Given the description of an element on the screen output the (x, y) to click on. 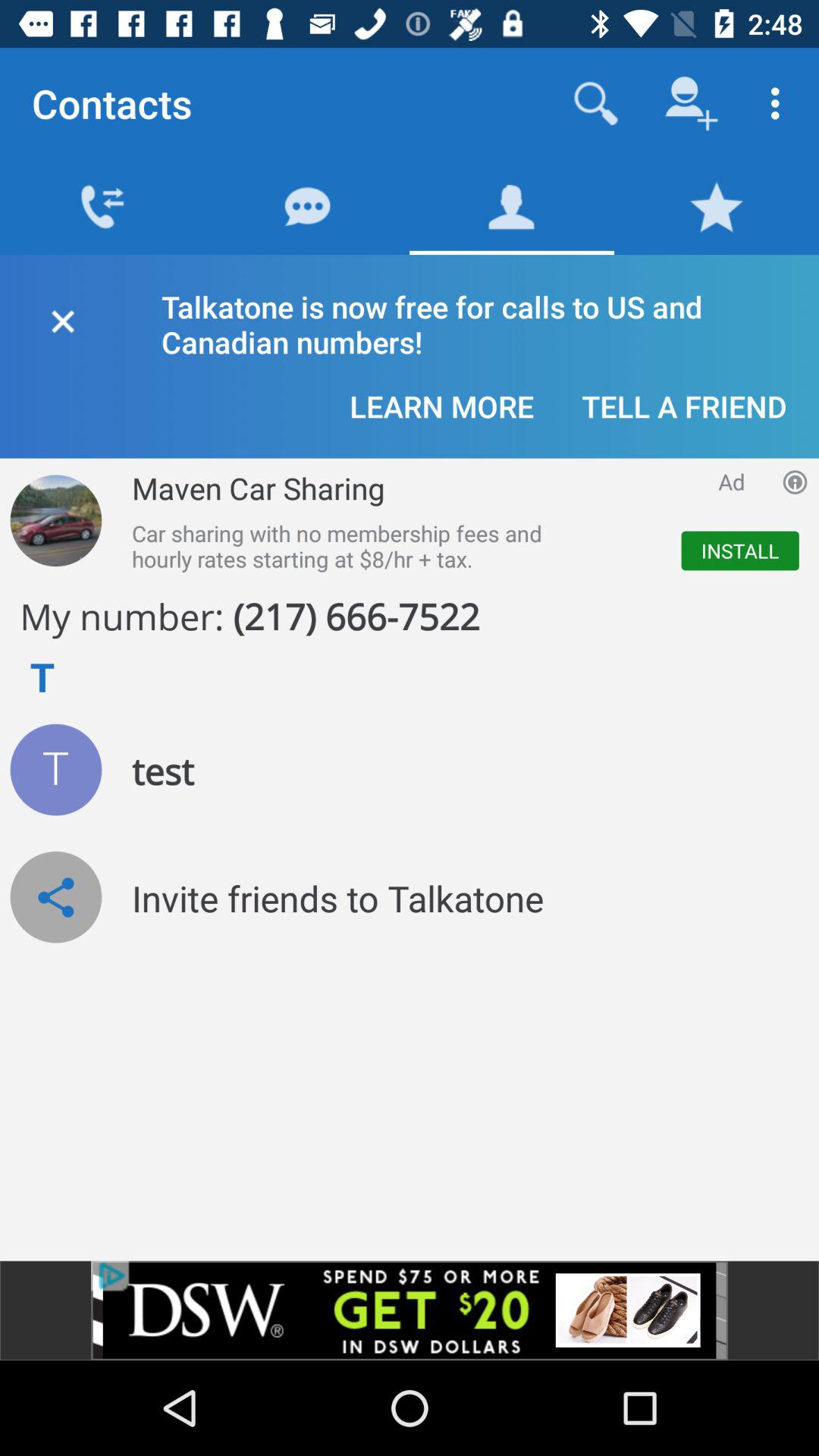
fechar a aba de contatos (62, 318)
